Given the description of an element on the screen output the (x, y) to click on. 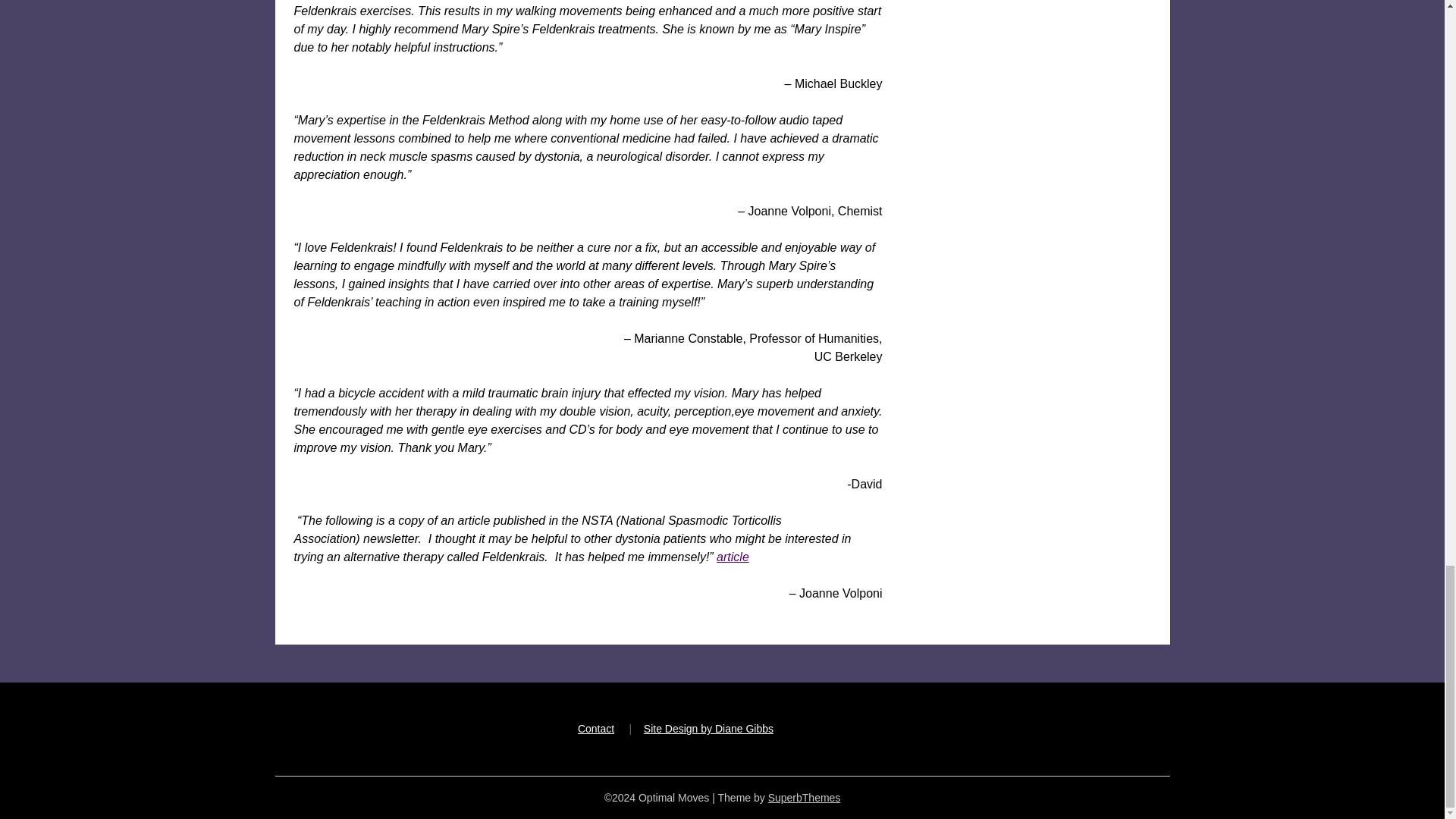
arti (724, 556)
SuperbThemes (804, 797)
Site Design by Diane Gibbs (708, 728)
Contact (596, 728)
cle (740, 556)
